Given the description of an element on the screen output the (x, y) to click on. 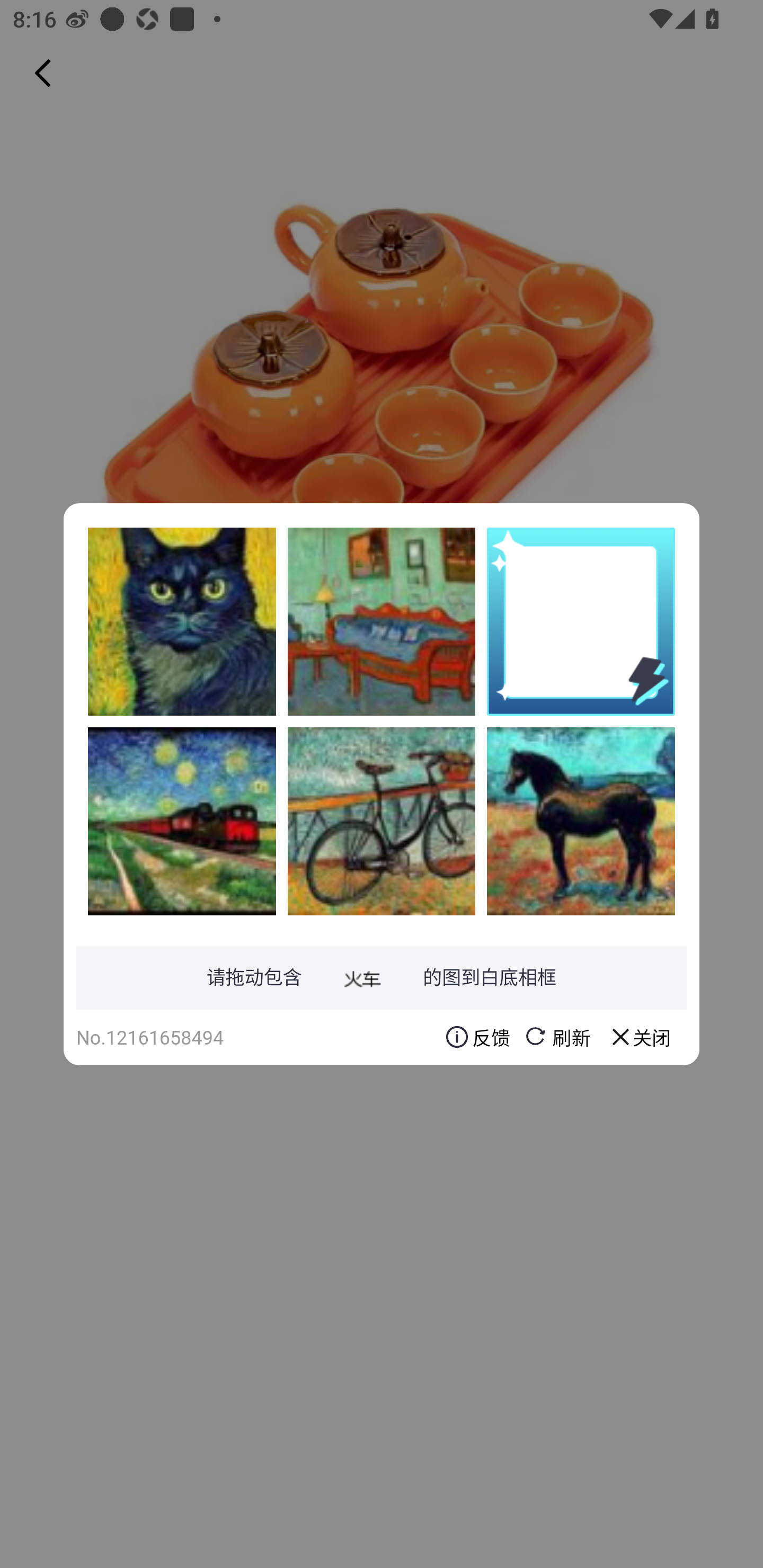
3Hc589TIDi6uo6amnuEnwrg (181, 621)
GWX89Qx99wcZF5 (381, 621)
OSy1soO6vSoqdpop2h2Re5kjdHJWMtyCaNiSyM (181, 820)
iWt5OcR2XA1WruB4o5y3CO98I0PYVSmcEiarn (381, 820)
